Given the description of an element on the screen output the (x, y) to click on. 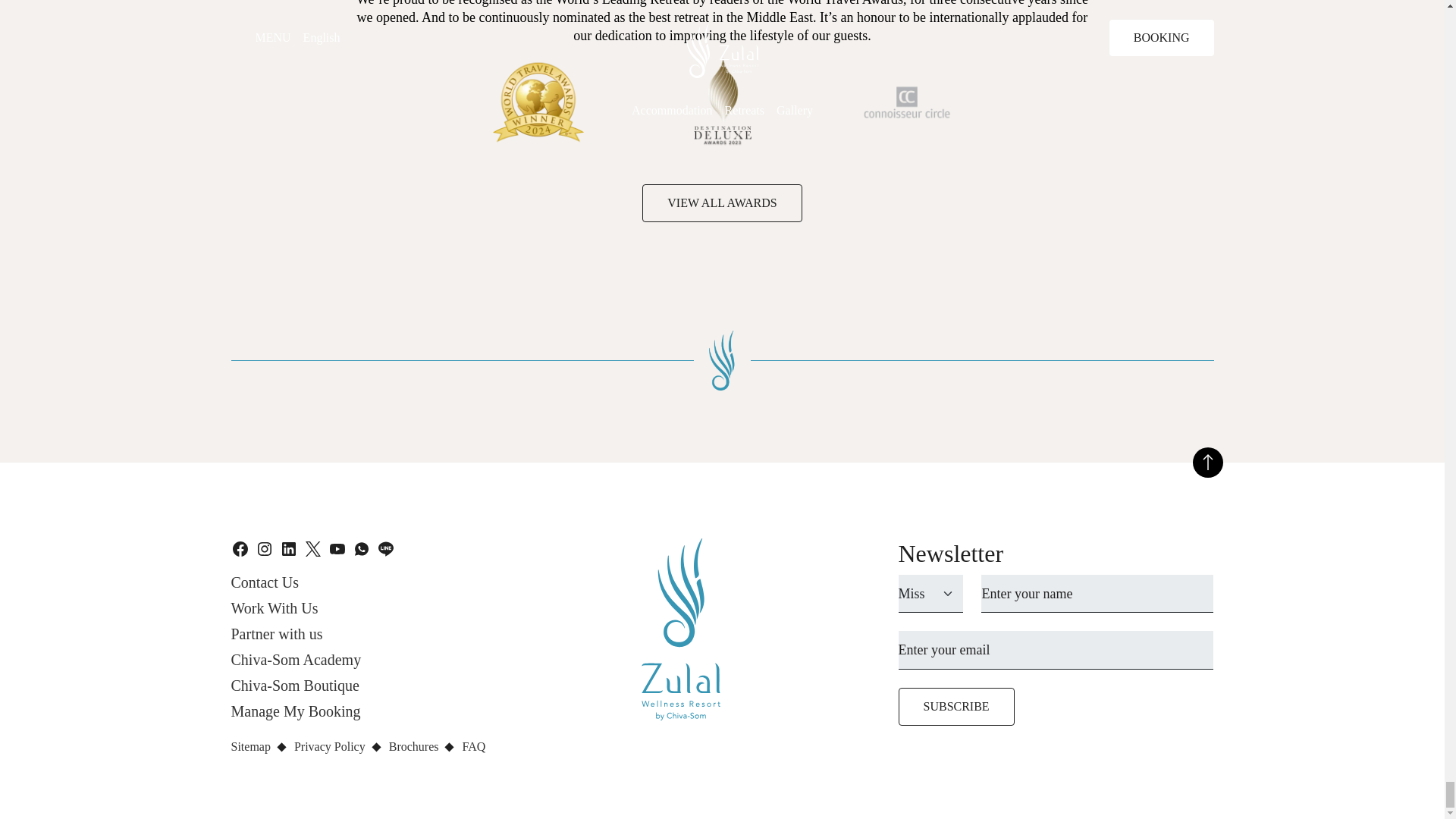
Subscribe (955, 706)
